Given the description of an element on the screen output the (x, y) to click on. 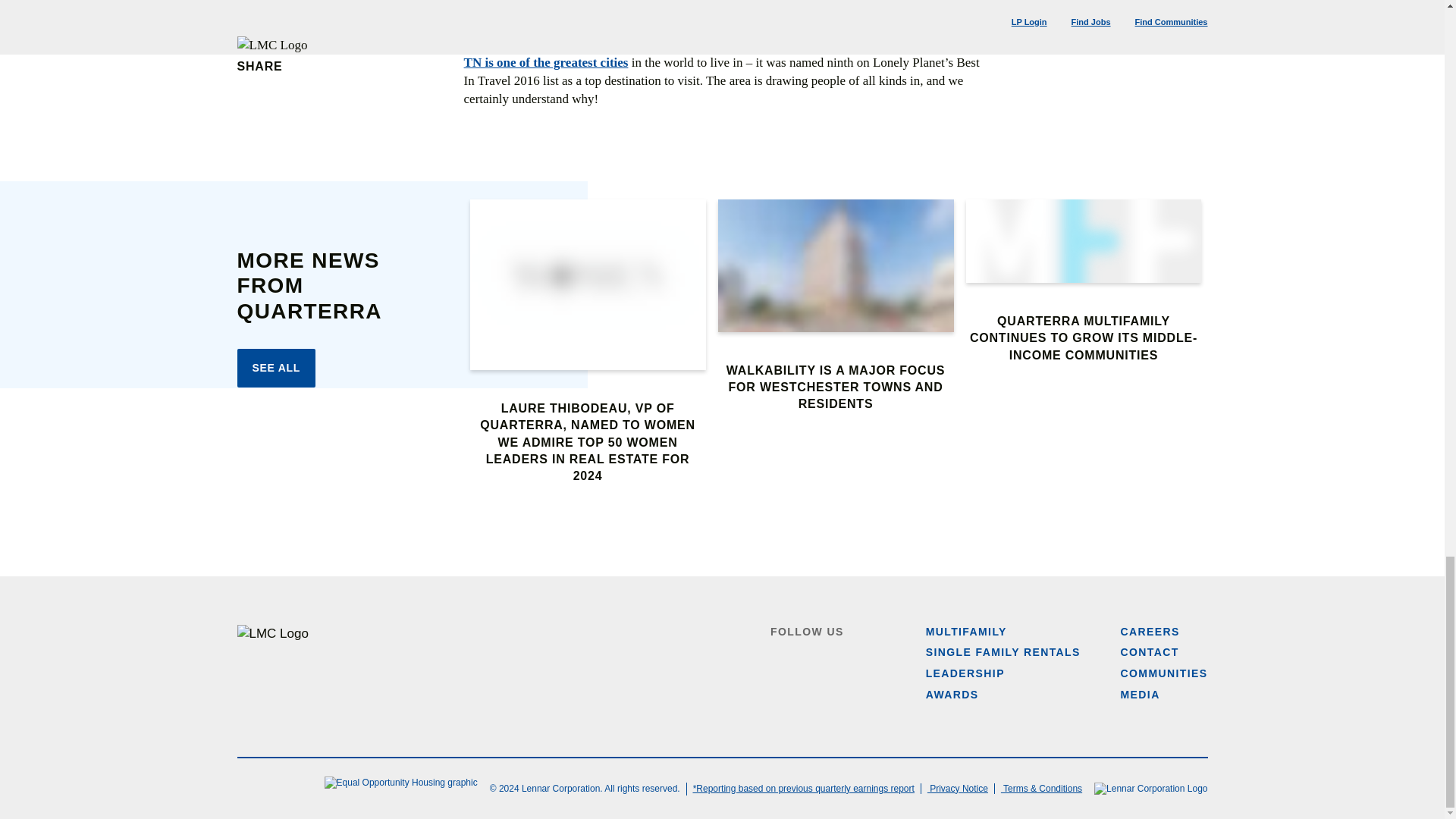
Nashville, TN is one of the greatest cities (721, 53)
CAREERS (1150, 631)
COMMUNITIES (1164, 673)
MULTIFAMILY (966, 631)
SEE ALL (275, 368)
LEADERSHIP (965, 673)
CONTACT (1150, 652)
MEDIA (1140, 694)
AWARDS (952, 694)
SINGLE FAMILY RENTALS (1003, 652)
